Given the description of an element on the screen output the (x, y) to click on. 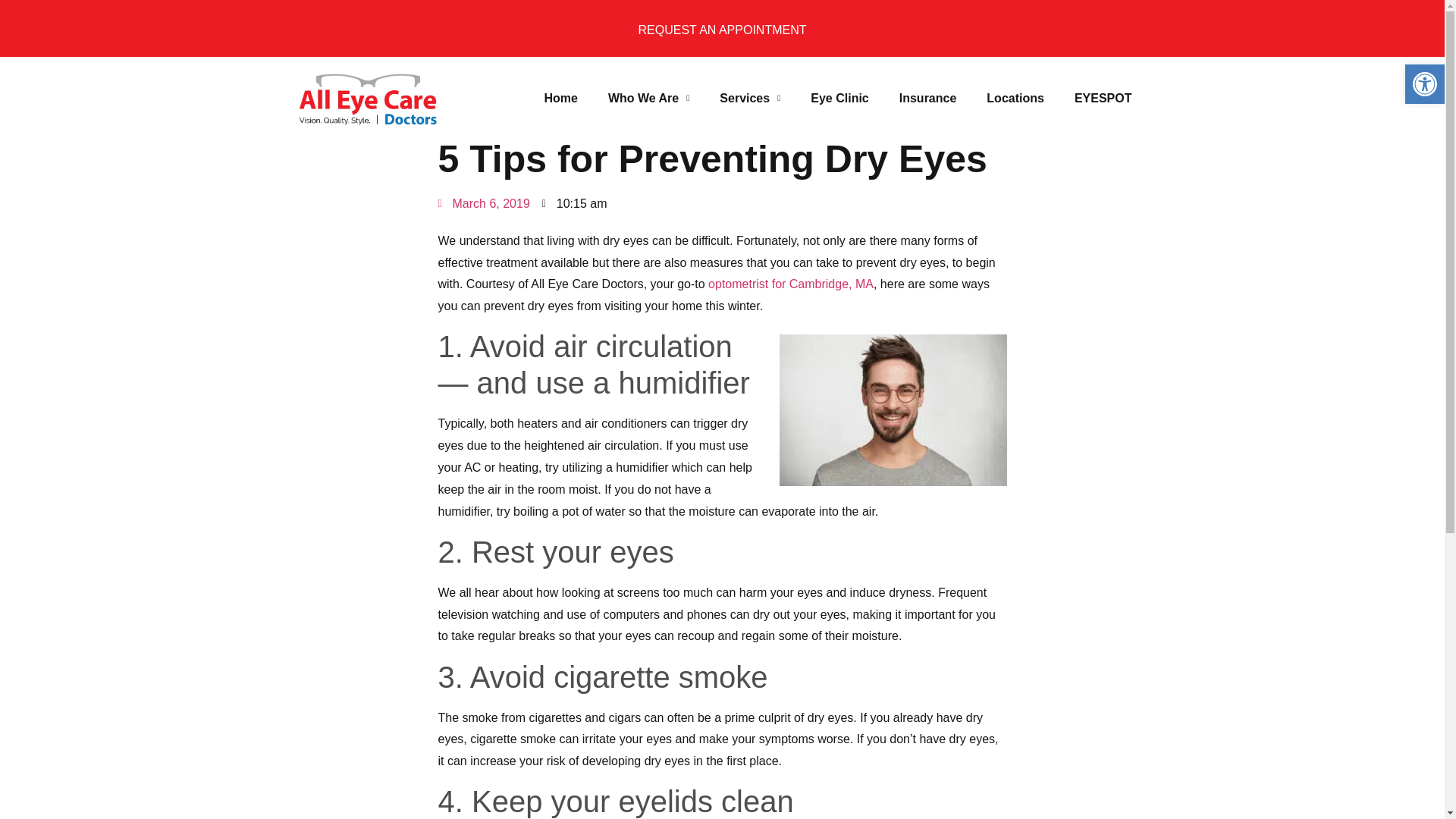
Services (749, 98)
Insurance (927, 98)
Eye Clinic (838, 98)
EYESPOT (1103, 98)
Accessibility Tools (1424, 84)
REQUEST AN APPOINTMENT (722, 29)
Home (560, 98)
Locations (1015, 98)
Who We Are (648, 98)
